Given the description of an element on the screen output the (x, y) to click on. 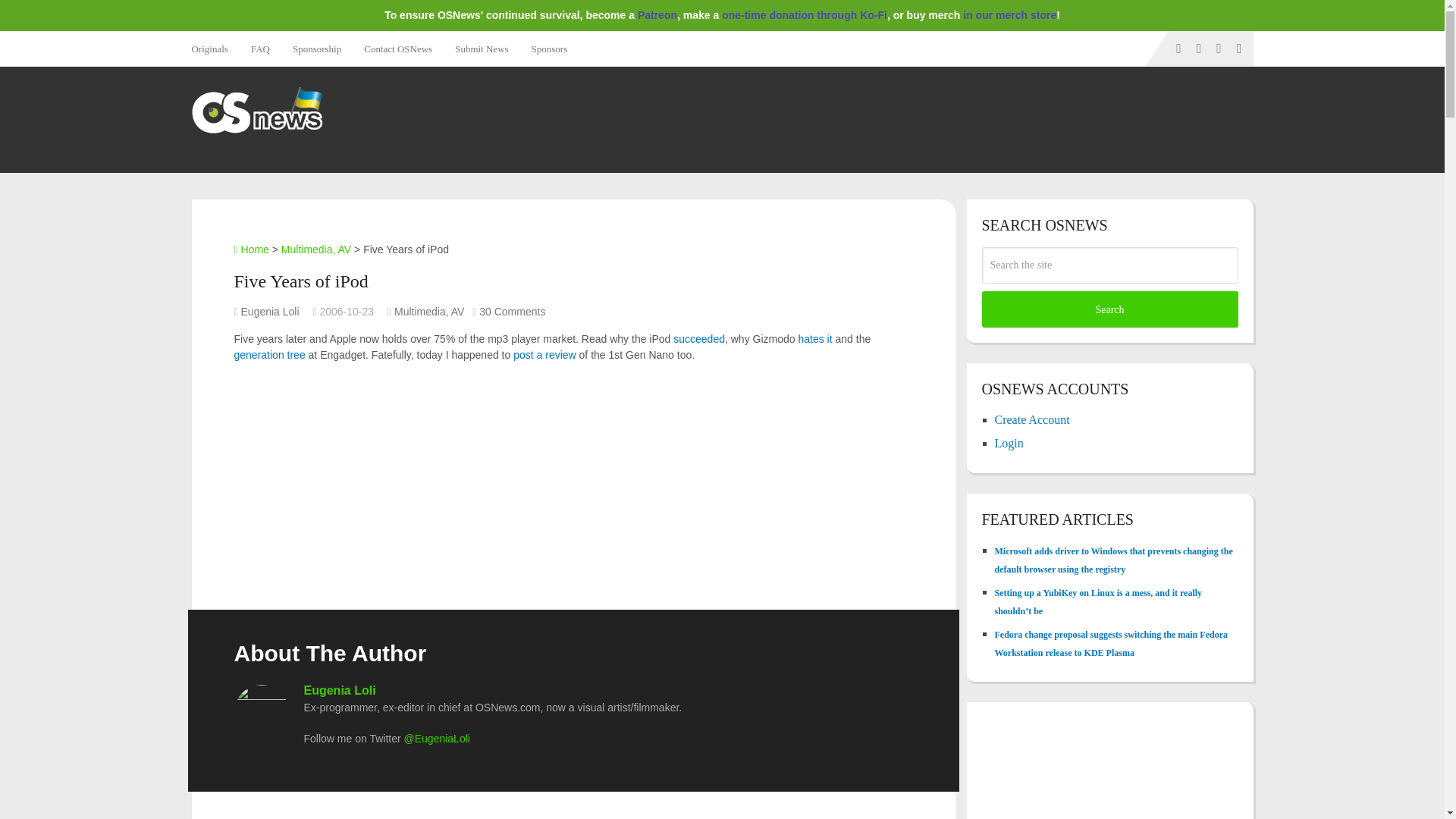
Sponsorship (316, 48)
Search (1109, 309)
Multimedia, AV (429, 311)
Multimedia, AV (315, 249)
 Home (249, 249)
Sponsors (549, 48)
Submit News (481, 48)
post a review (544, 354)
succeeded (698, 338)
Eugenia Loli (338, 689)
